Given the description of an element on the screen output the (x, y) to click on. 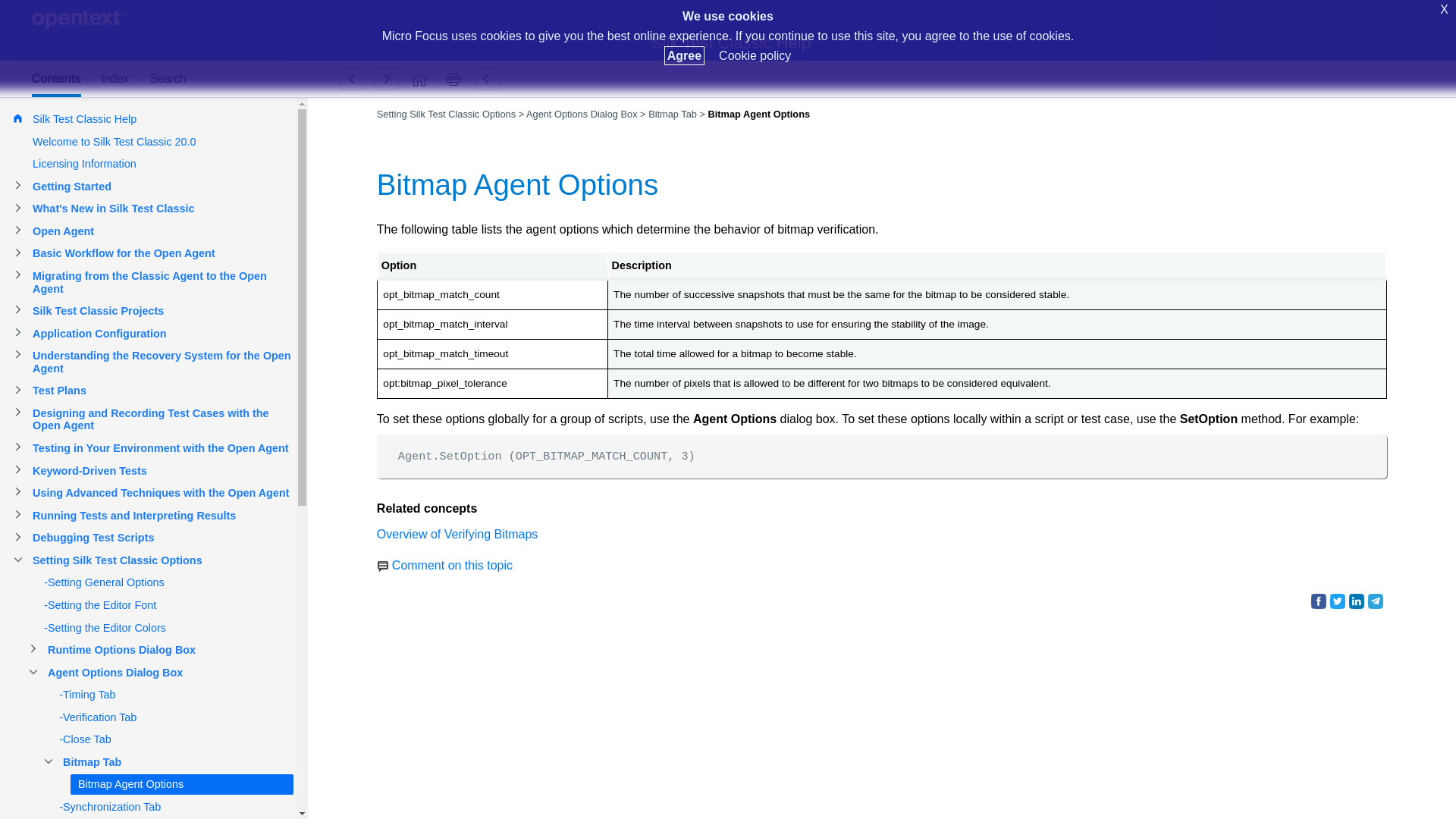
Agree (684, 55)
Bitmap Tab (352, 78)
Cookie policy (754, 55)
Synchronization Tab (386, 78)
